Given the description of an element on the screen output the (x, y) to click on. 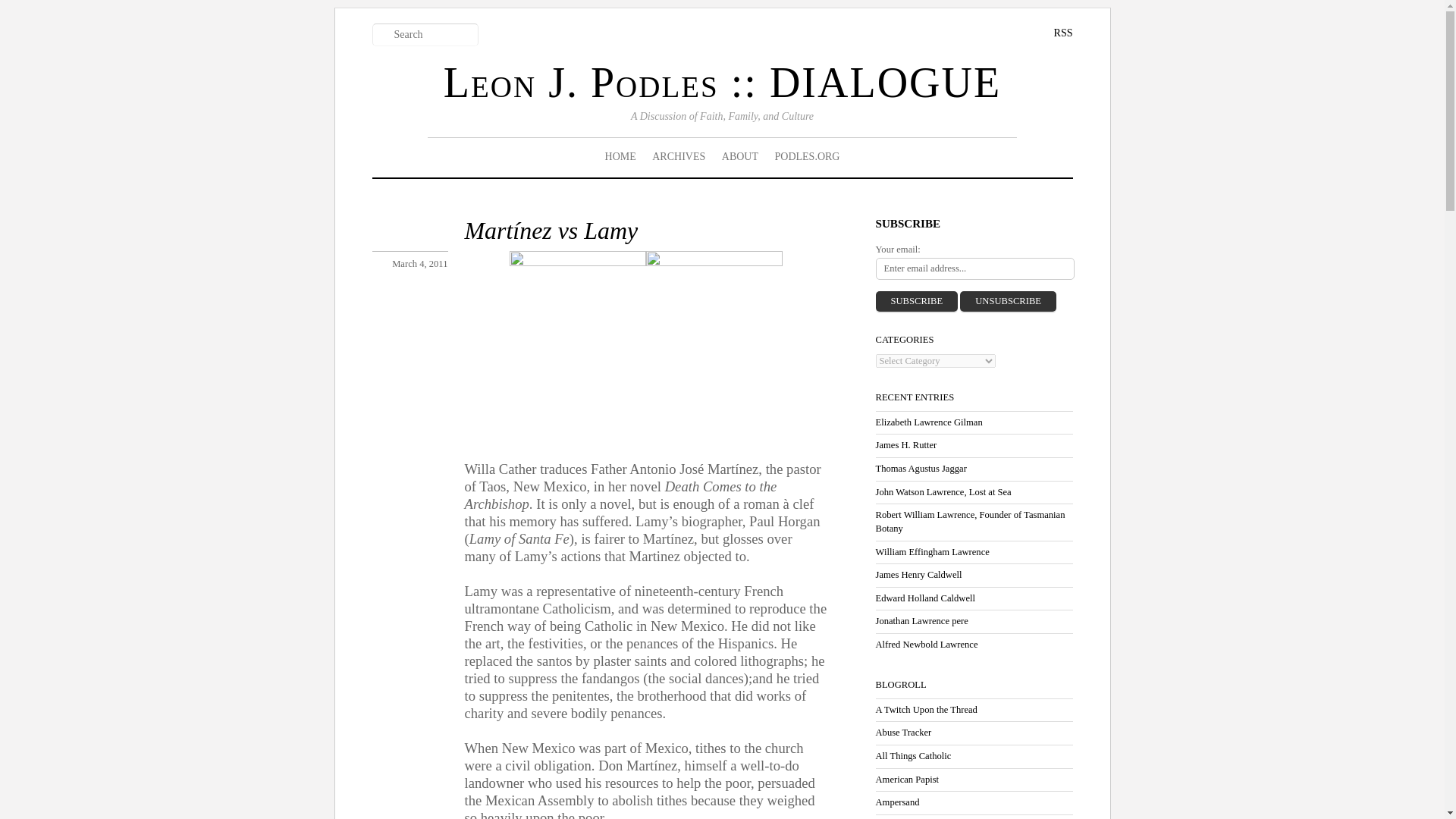
Enter email address... (974, 268)
William Effingham Lawrence (931, 552)
James H. Rutter (905, 444)
HOME (620, 156)
Leon J. Podles :: DIALOGUE (722, 82)
Robert William Lawrence, Founder of Tasmanian Botany (969, 521)
Abuse Tracker (903, 732)
ARCHIVES (678, 156)
Edward Holland Caldwell (925, 597)
Elizabeth Lawrence Gilman (928, 421)
